Given the description of an element on the screen output the (x, y) to click on. 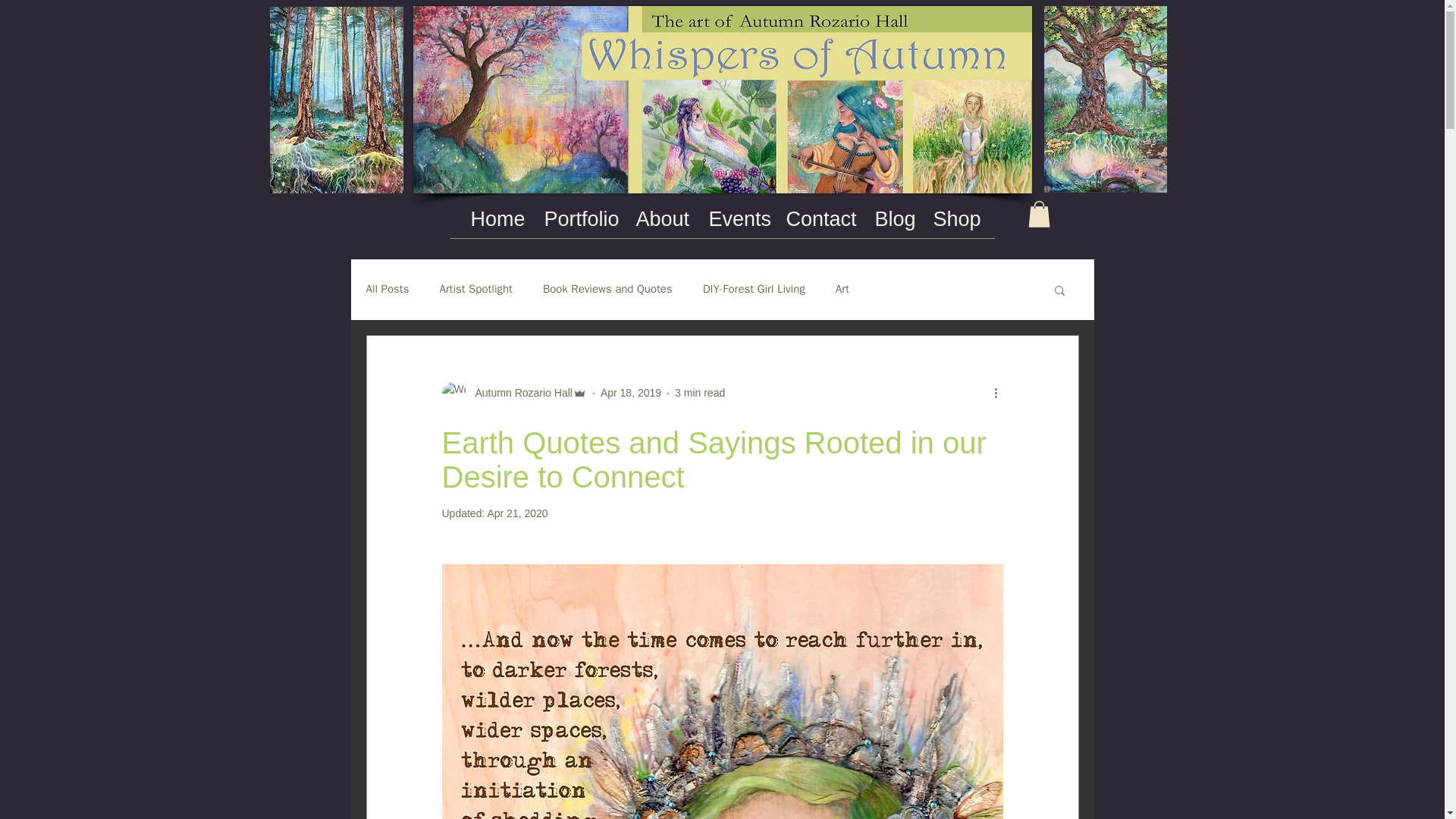
3 min read (700, 392)
Book Reviews and Quotes (607, 288)
Home (496, 219)
Portfolio (578, 219)
Autumn Rozario Hall (513, 393)
webbanner snow.jpg (721, 99)
Artist Spotlight (475, 288)
Apr 18, 2019 (630, 392)
Blog (892, 219)
Autumn Rozario Hall (518, 392)
